Given the description of an element on the screen output the (x, y) to click on. 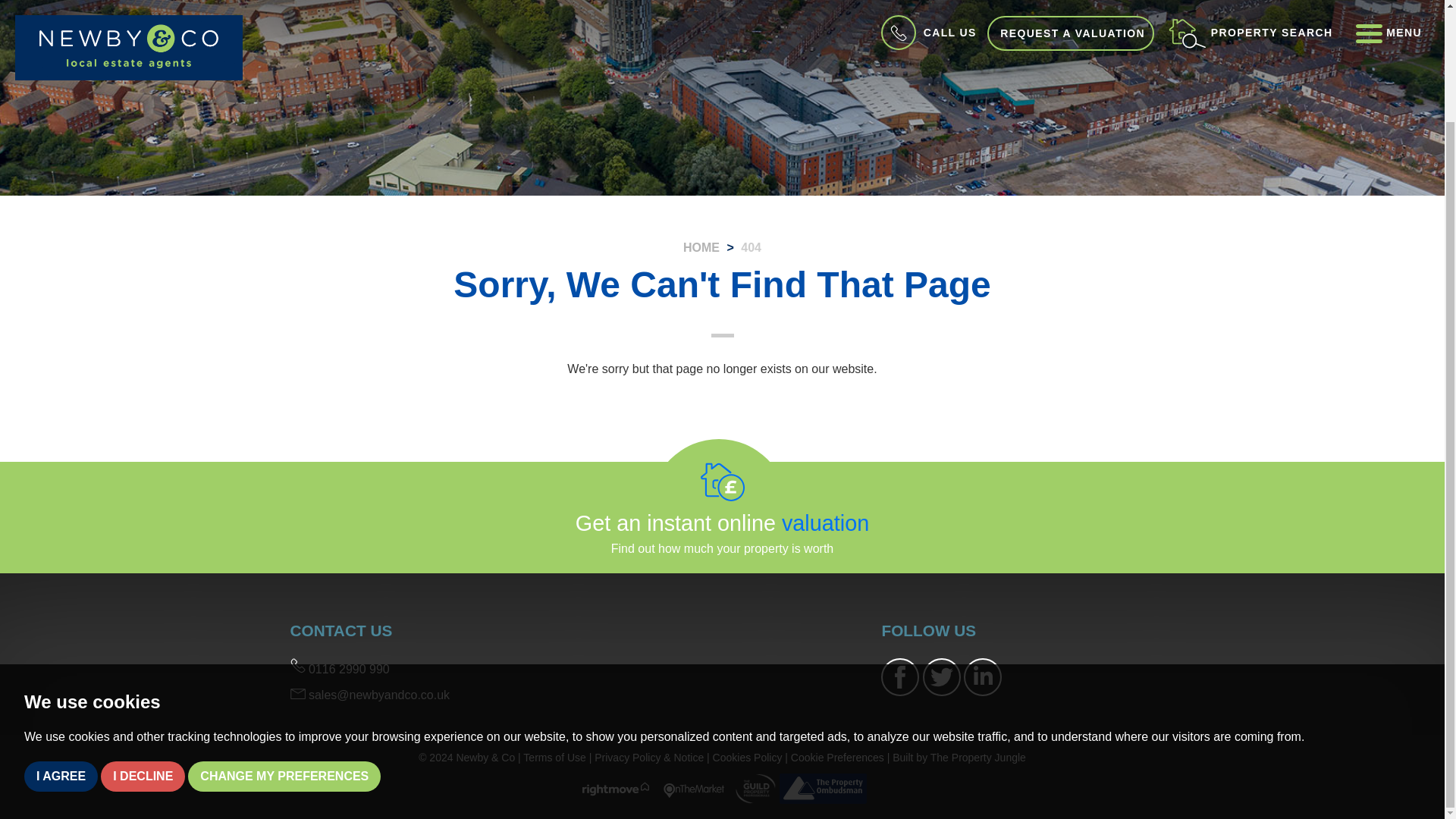
HOME (700, 246)
0116 2990 990 (338, 668)
Built by The Property Jungle (959, 757)
Cookies Policy (748, 757)
Terms of Use (553, 757)
CHANGE MY PREFERENCES (283, 644)
Privacy Policy (648, 757)
Terms of Use (553, 757)
I AGREE (60, 644)
Cookie Preferences (836, 757)
I DECLINE (142, 644)
404 (751, 246)
